Given the description of an element on the screen output the (x, y) to click on. 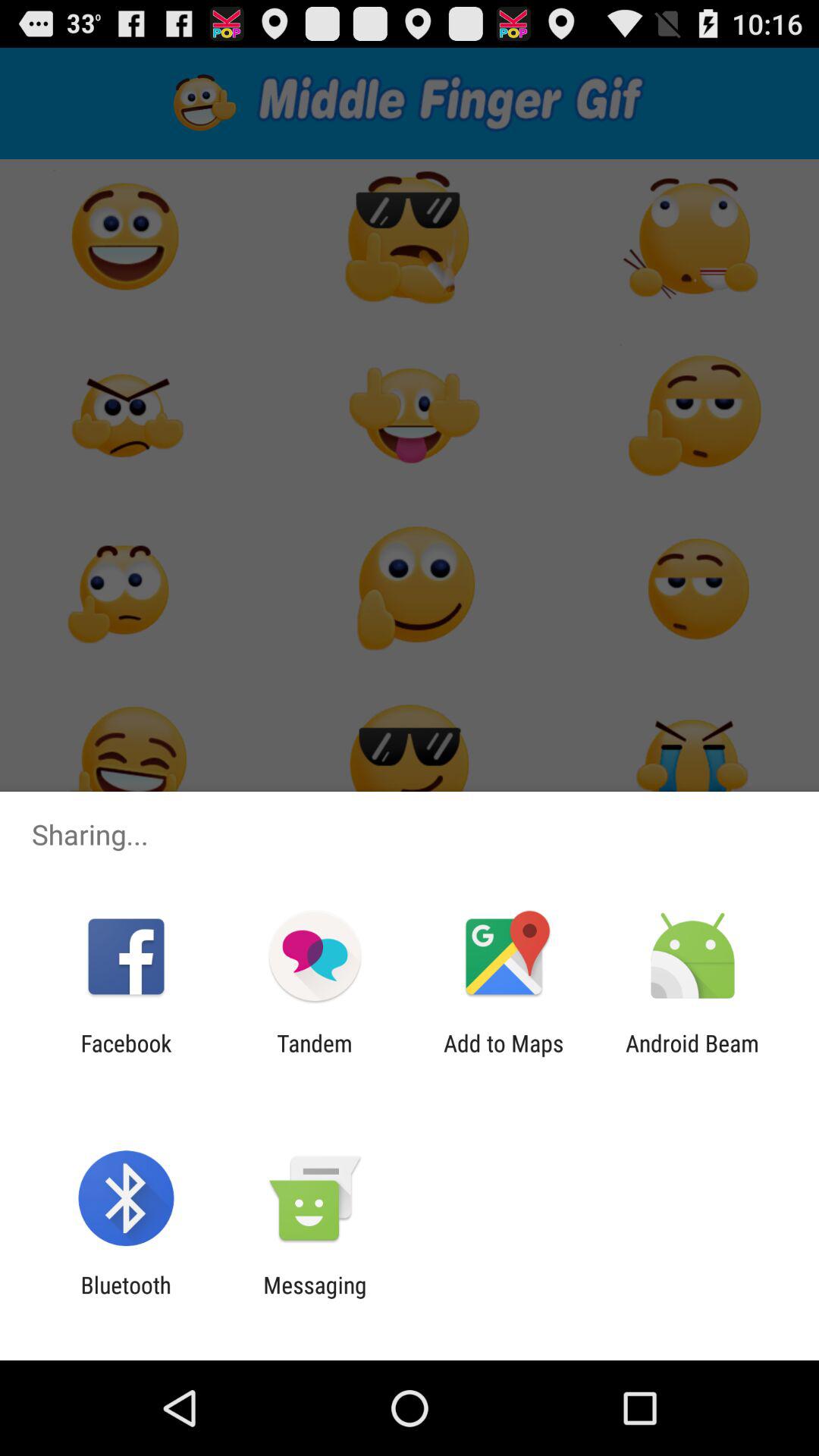
select the messaging icon (314, 1298)
